Given the description of an element on the screen output the (x, y) to click on. 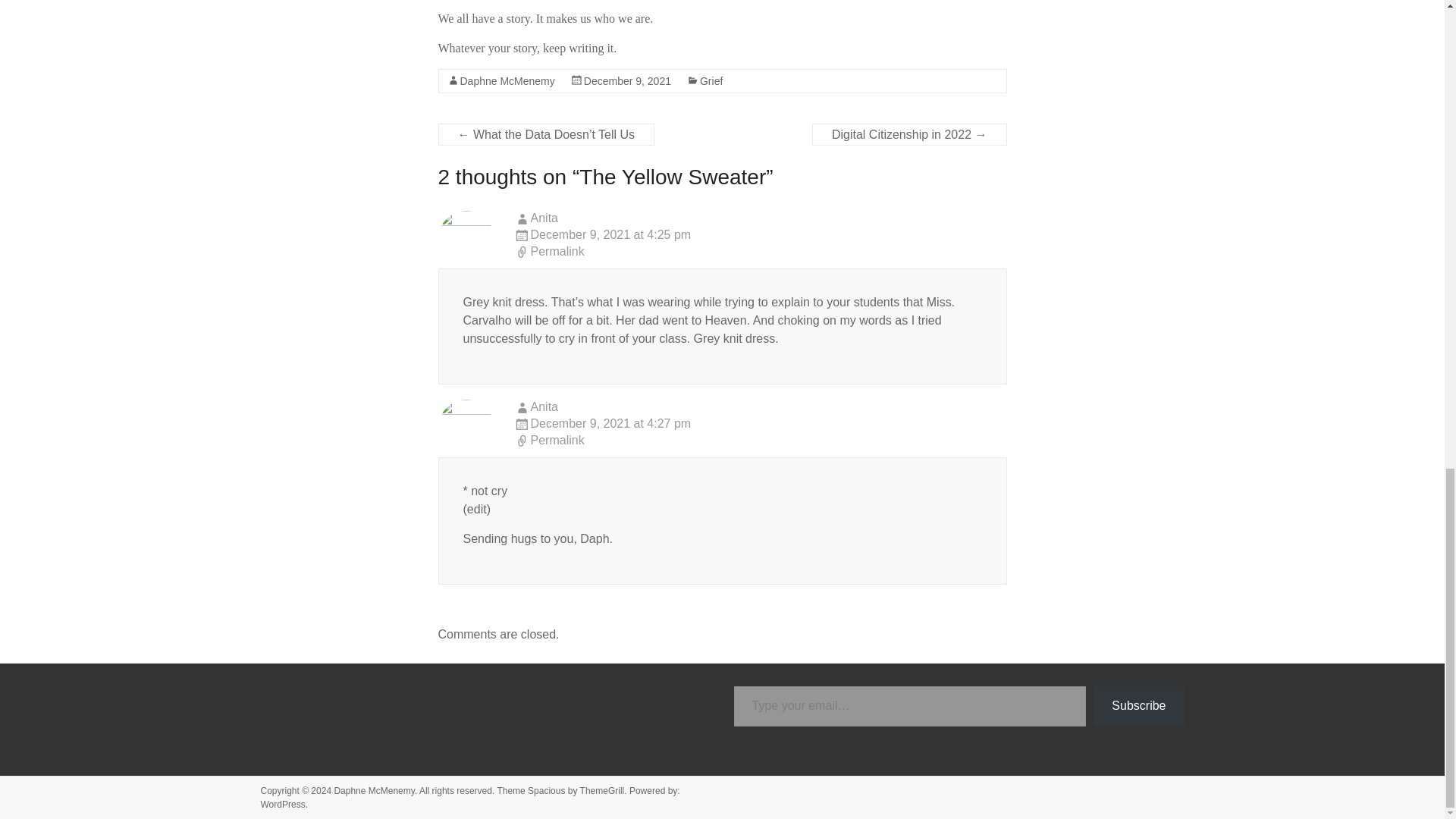
Daphne McMenemy (507, 80)
December 9, 2021 (627, 80)
Subscribe (1138, 706)
Spacious (545, 790)
Daphne McMenemy (373, 790)
Permalink (760, 441)
Daphne McMenemy (373, 790)
WordPress (282, 804)
Spacious (545, 790)
WordPress (282, 804)
